Given the description of an element on the screen output the (x, y) to click on. 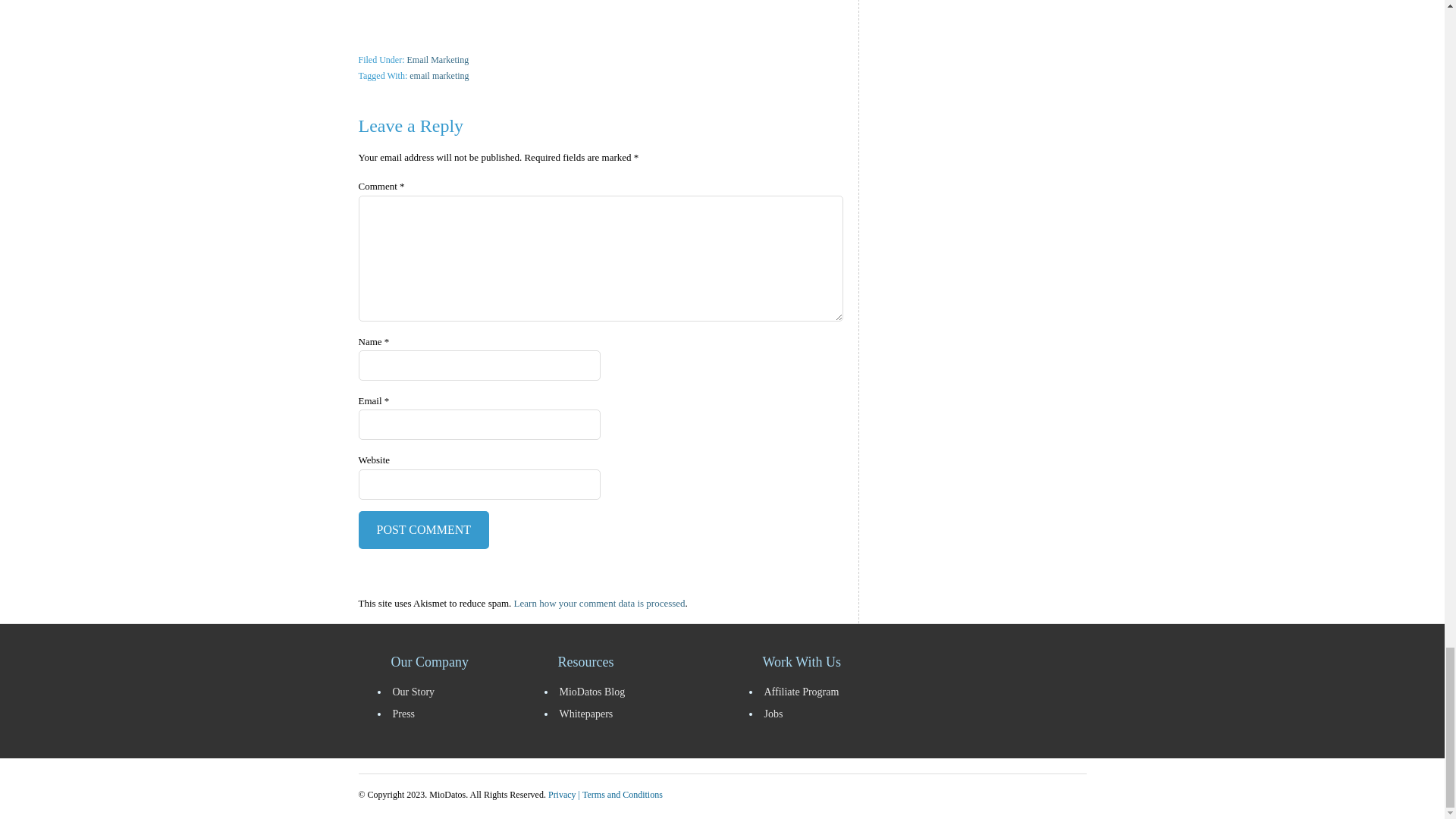
Press (456, 713)
Affiliate Program (832, 691)
Our Story (456, 691)
Post Comment (423, 529)
Jobs (832, 713)
Email Marketing (437, 59)
Learn how your comment data is processed (599, 603)
Post Comment (423, 529)
MioDatos Blog (638, 691)
email marketing (438, 75)
Privacy (562, 794)
Whitepapers (638, 713)
Terms and Conditions (622, 794)
